Given the description of an element on the screen output the (x, y) to click on. 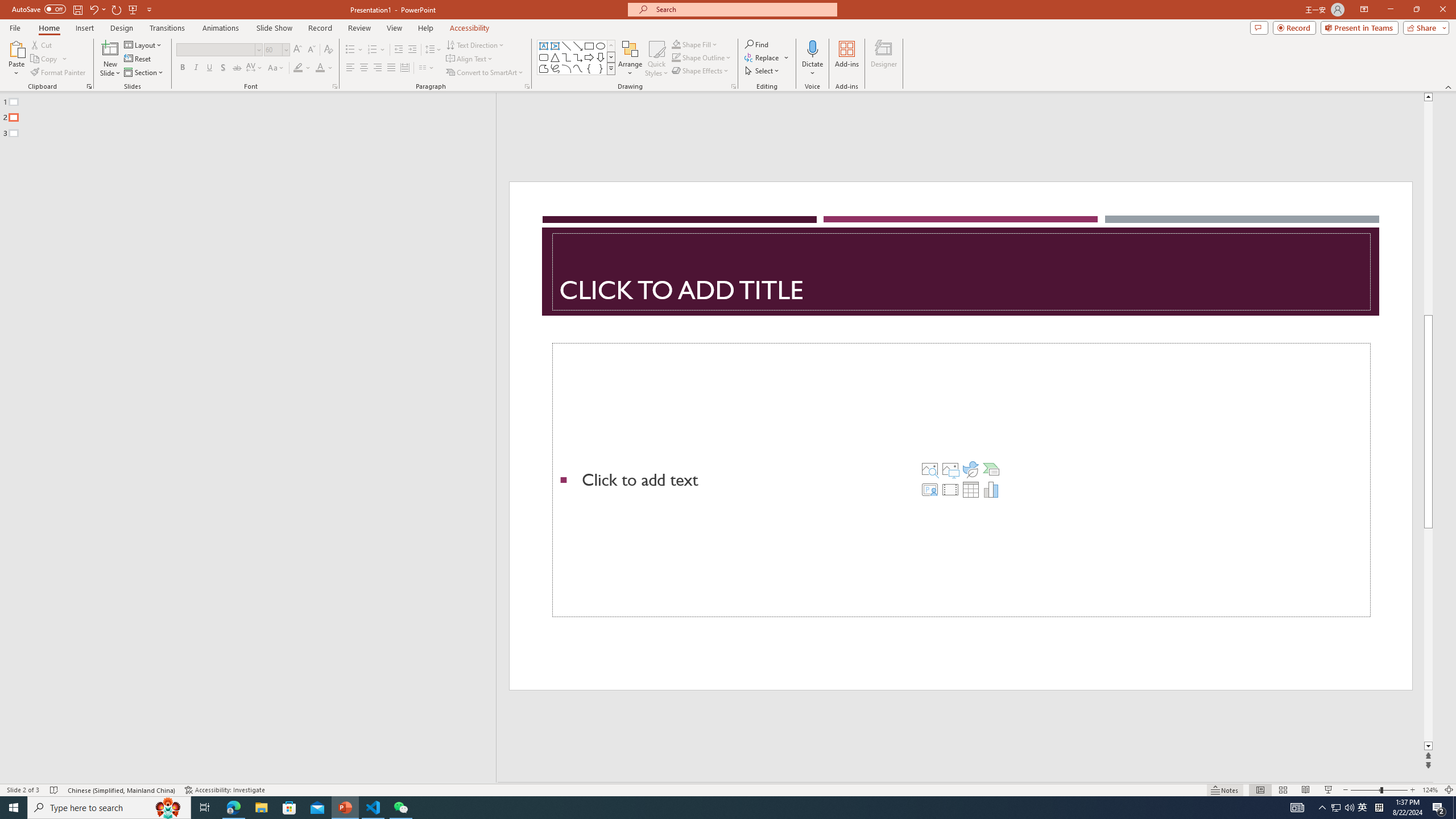
Insert Chart (991, 489)
Content Placeholder (960, 479)
